Given the description of an element on the screen output the (x, y) to click on. 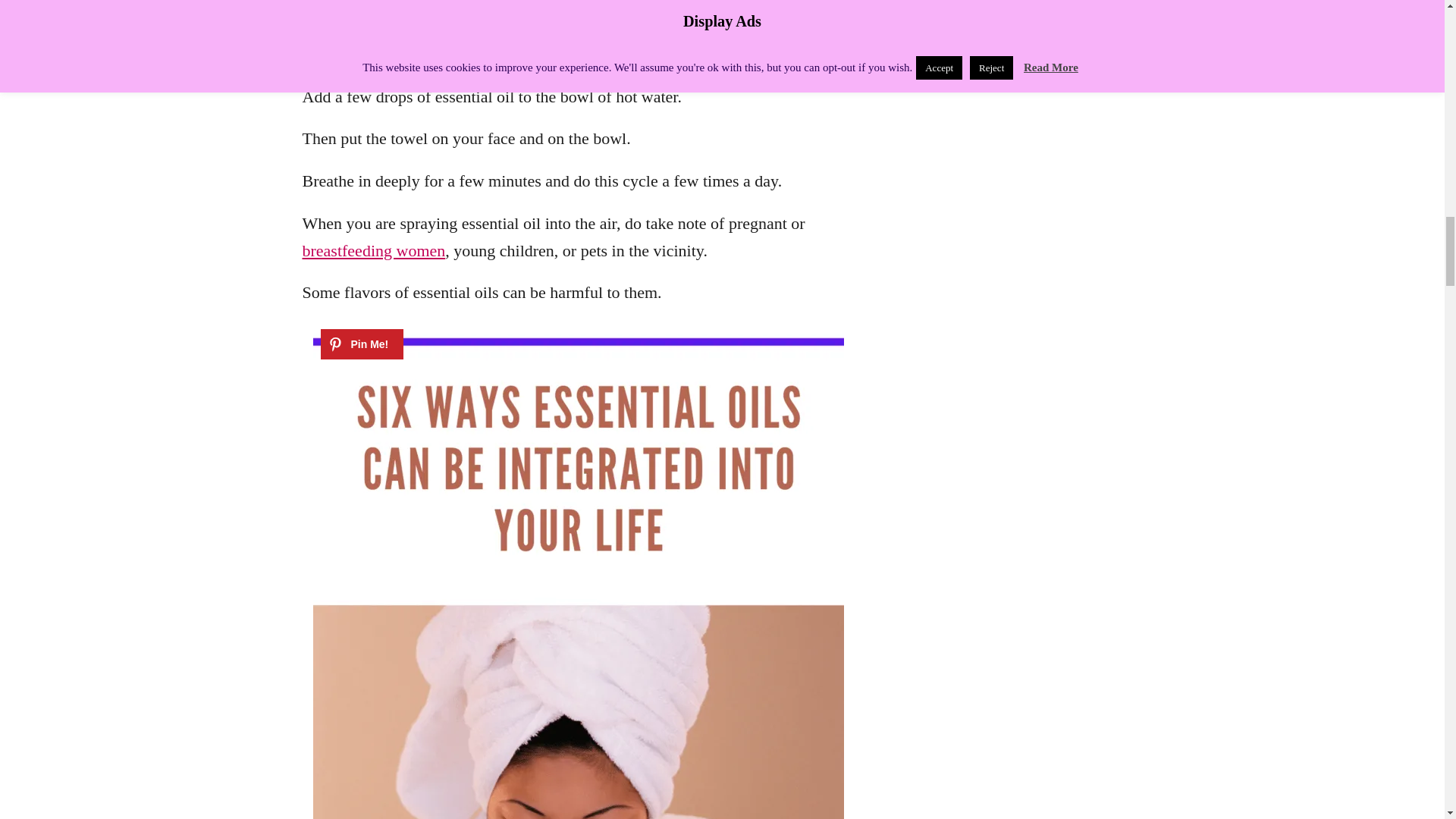
essential oil (653, 11)
breastfeeding women (373, 250)
Pin Me! (361, 344)
